Given the description of an element on the screen output the (x, y) to click on. 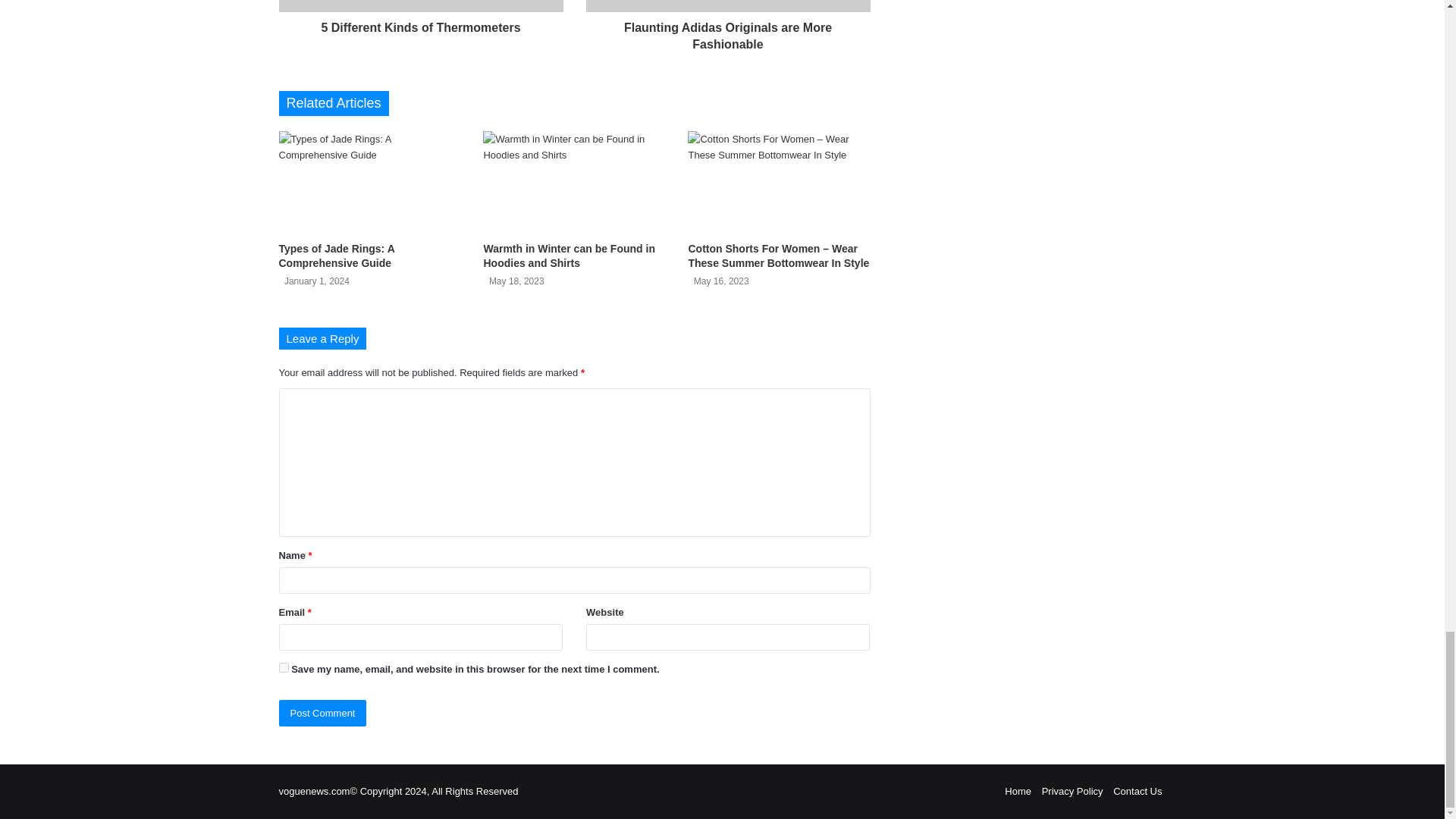
Post Comment (322, 713)
yes (283, 667)
